Given the description of an element on the screen output the (x, y) to click on. 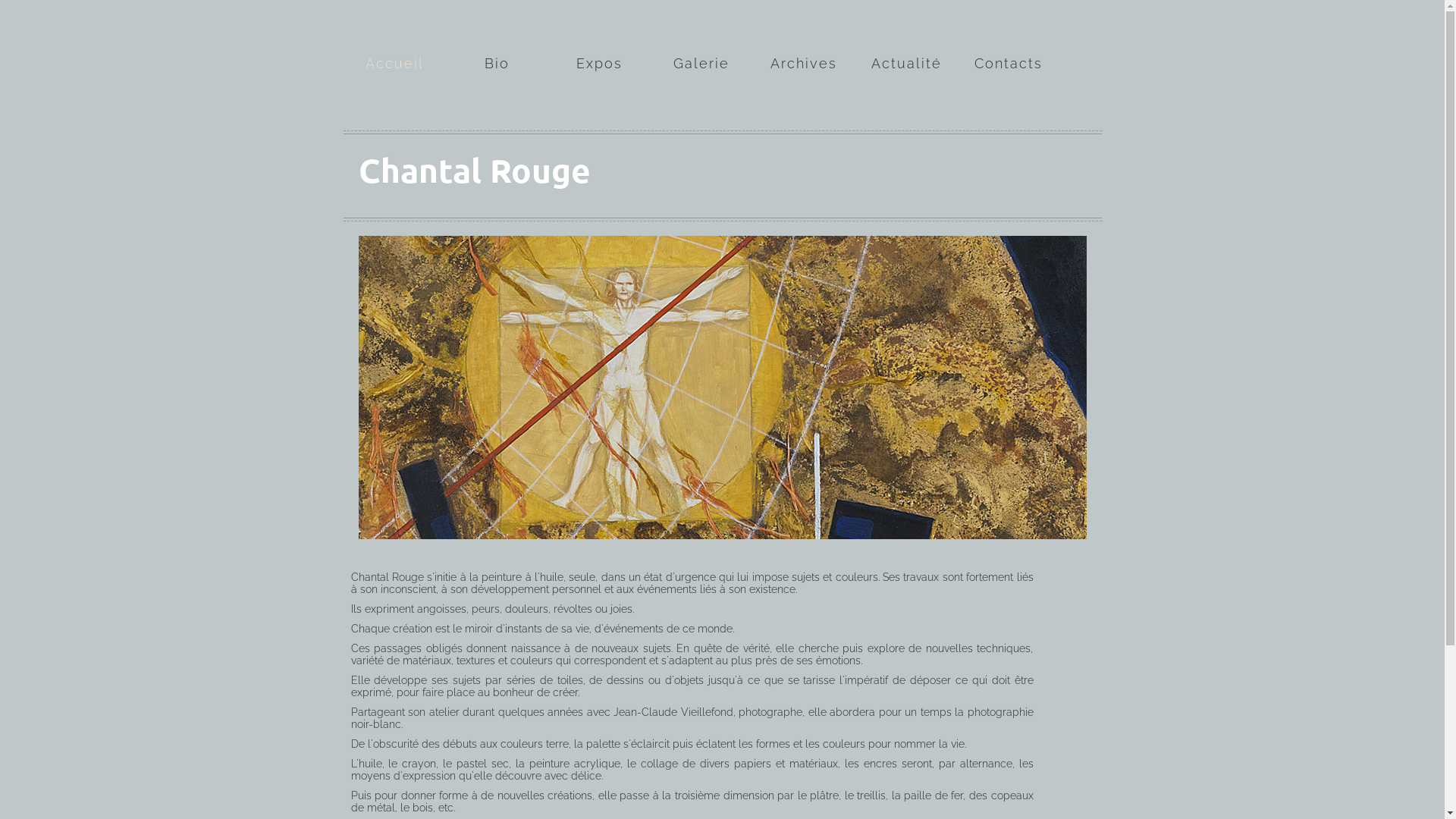
Galerie Element type: text (701, 42)
Chantal Rouge Element type: text (473, 170)
Archives Element type: text (803, 42)
Contacts Element type: text (1008, 42)
Accueil Element type: text (393, 42)
Expos Element type: text (598, 42)
Bio Element type: text (497, 42)
